Given the description of an element on the screen output the (x, y) to click on. 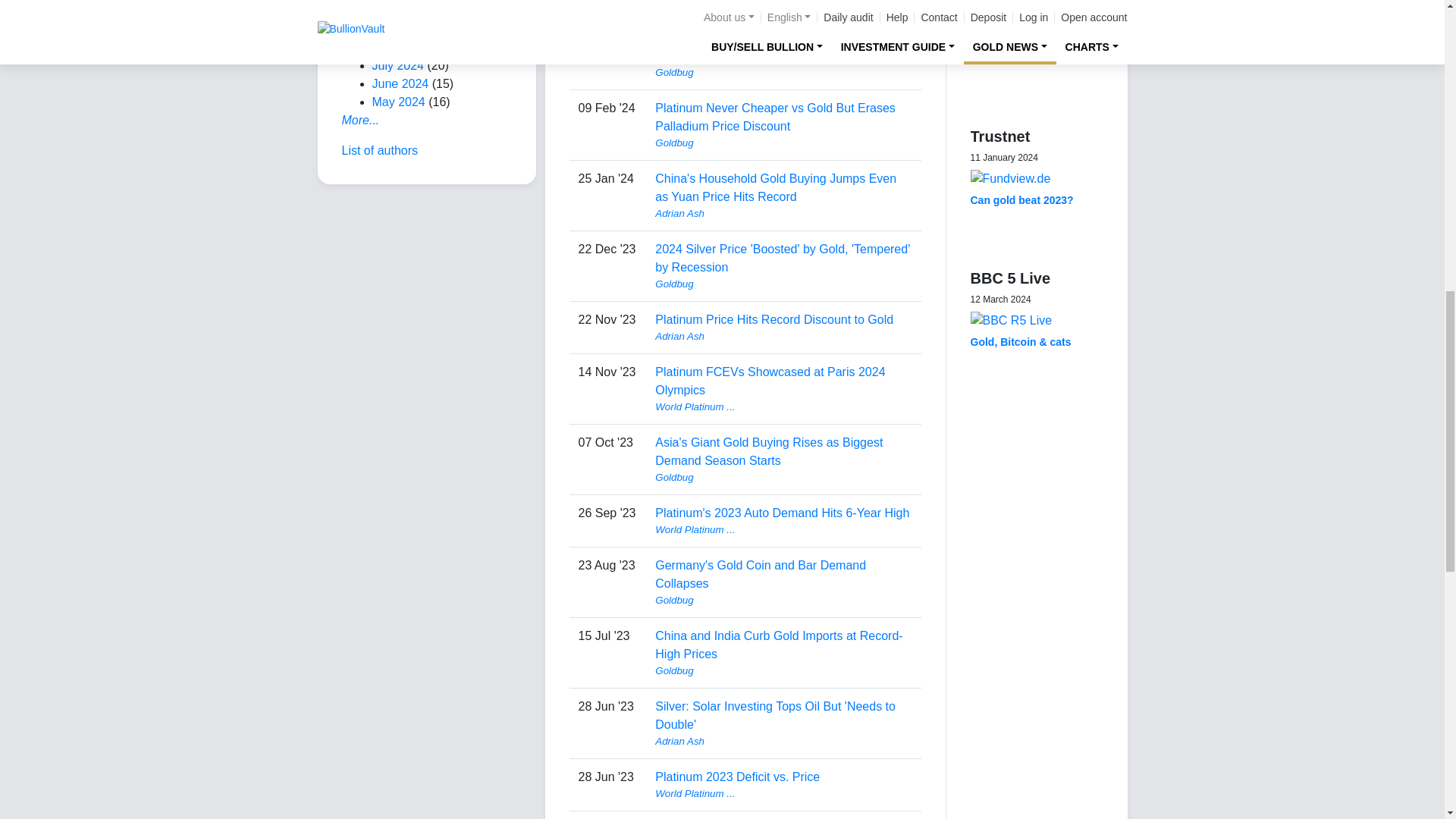
View user profile. (783, 142)
View user profile. (783, 72)
View user profile. (783, 283)
View user profile. (783, 4)
View user profile. (783, 213)
